Given the description of an element on the screen output the (x, y) to click on. 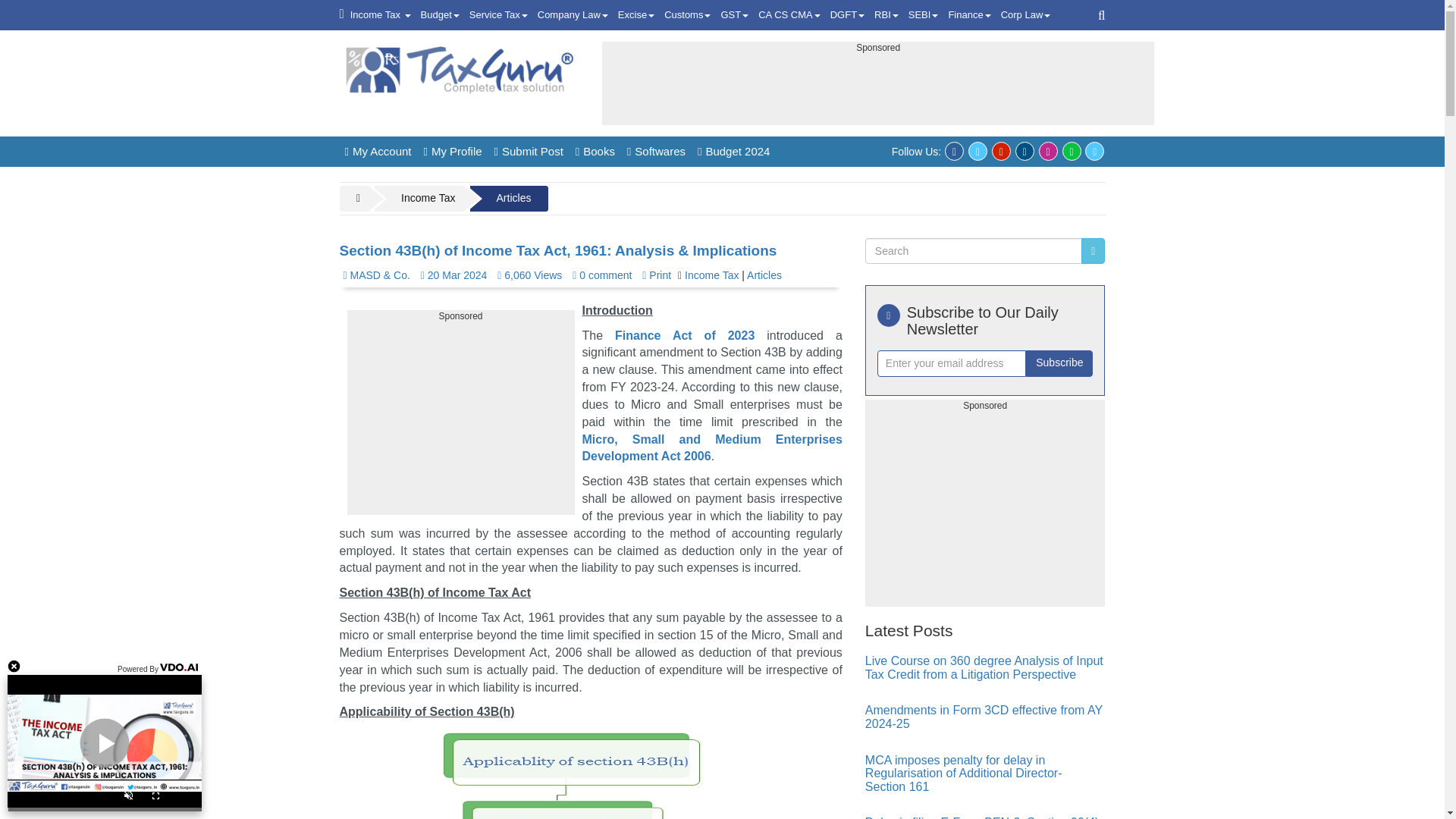
Customs (687, 15)
Union Budget 2024 Article News Notifications (439, 15)
Income Tax Related Information (380, 15)
Company Law (572, 15)
Income Tax (380, 15)
Excise (636, 15)
Service Tax Article News Notifications Judgments (498, 15)
Service Tax (498, 15)
Budget (439, 15)
